Given the description of an element on the screen output the (x, y) to click on. 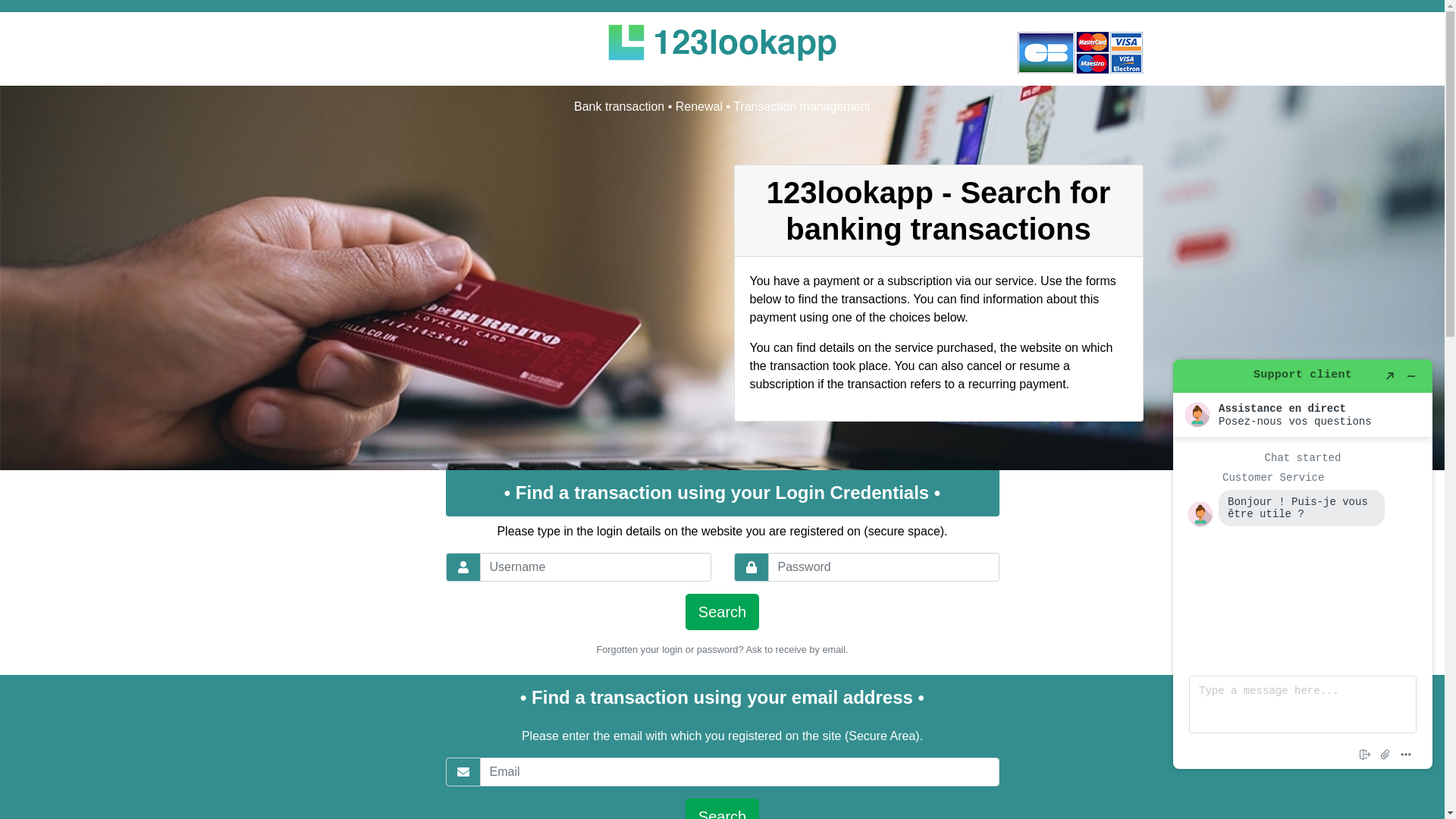
Find more information here Element type: hover (1302, 564)
Search Element type: text (722, 611)
